Given the description of an element on the screen output the (x, y) to click on. 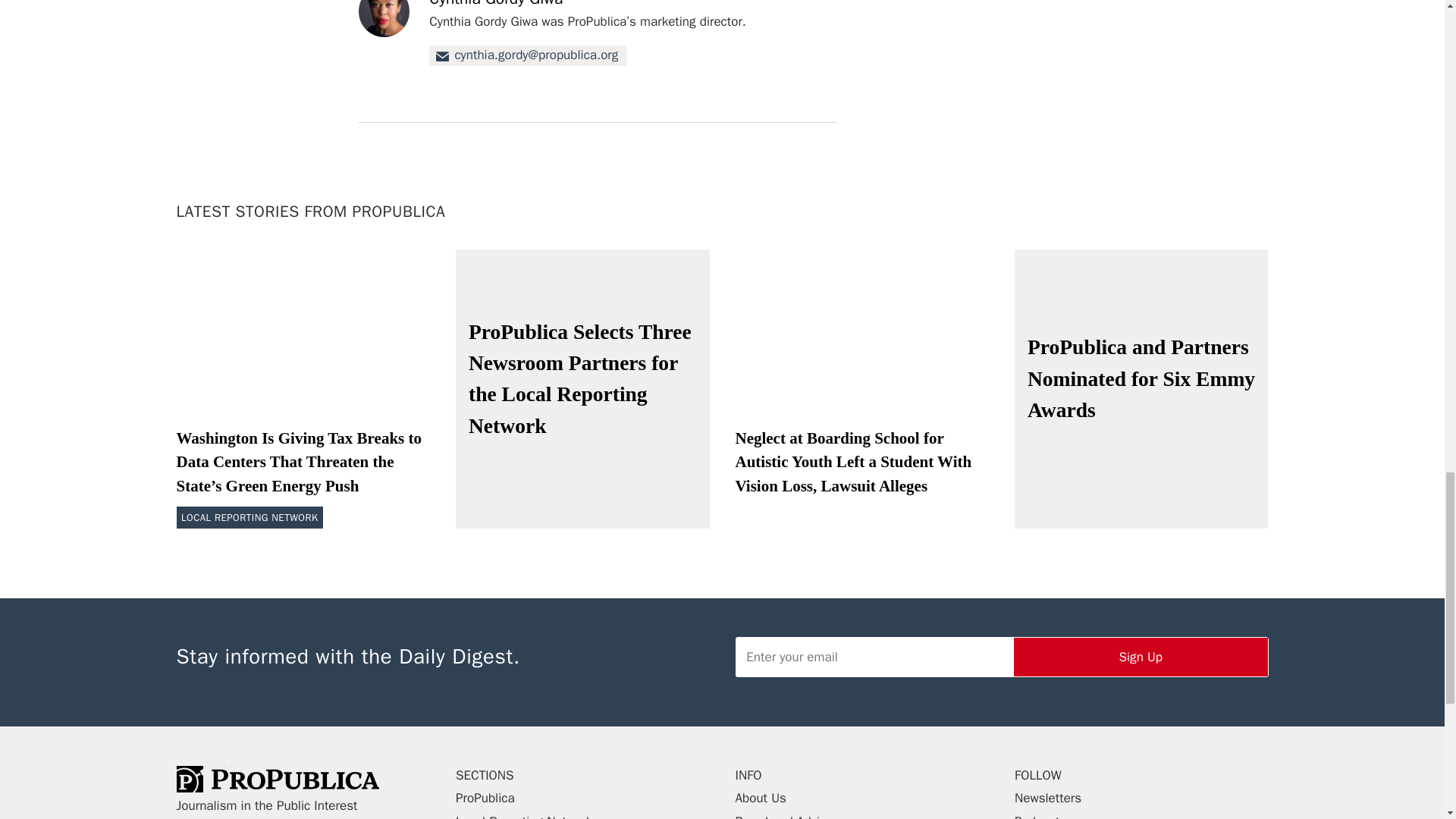
Sign Up (1140, 657)
Cynthia Gordy Giwa (495, 4)
Email (527, 55)
